Given the description of an element on the screen output the (x, y) to click on. 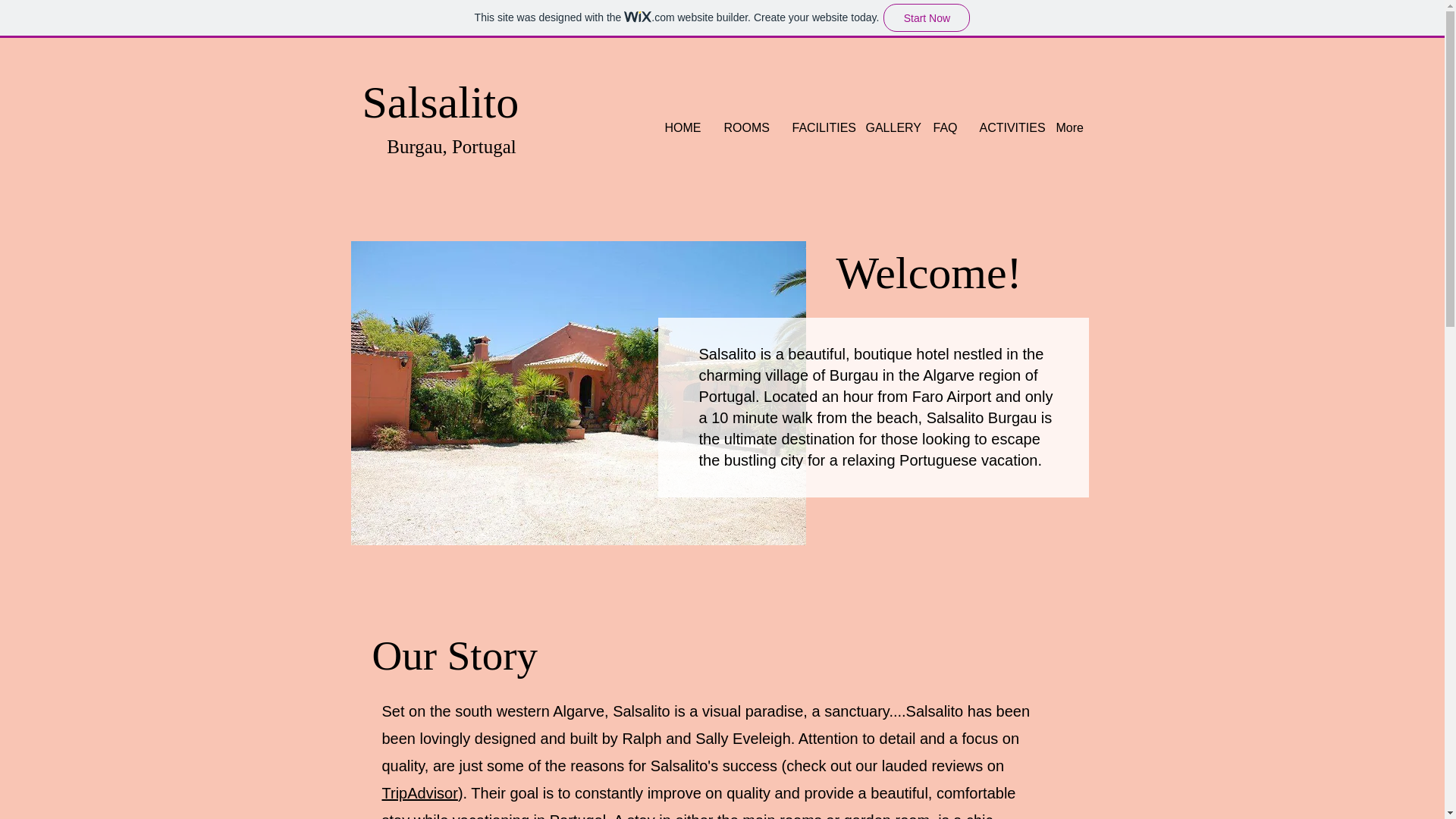
HOME (683, 128)
GALLERY (887, 128)
FACILITIES (817, 128)
FAQ (944, 128)
ROOMS (746, 128)
ACTIVITIES (1005, 128)
TripAdvisor (419, 792)
